Given the description of an element on the screen output the (x, y) to click on. 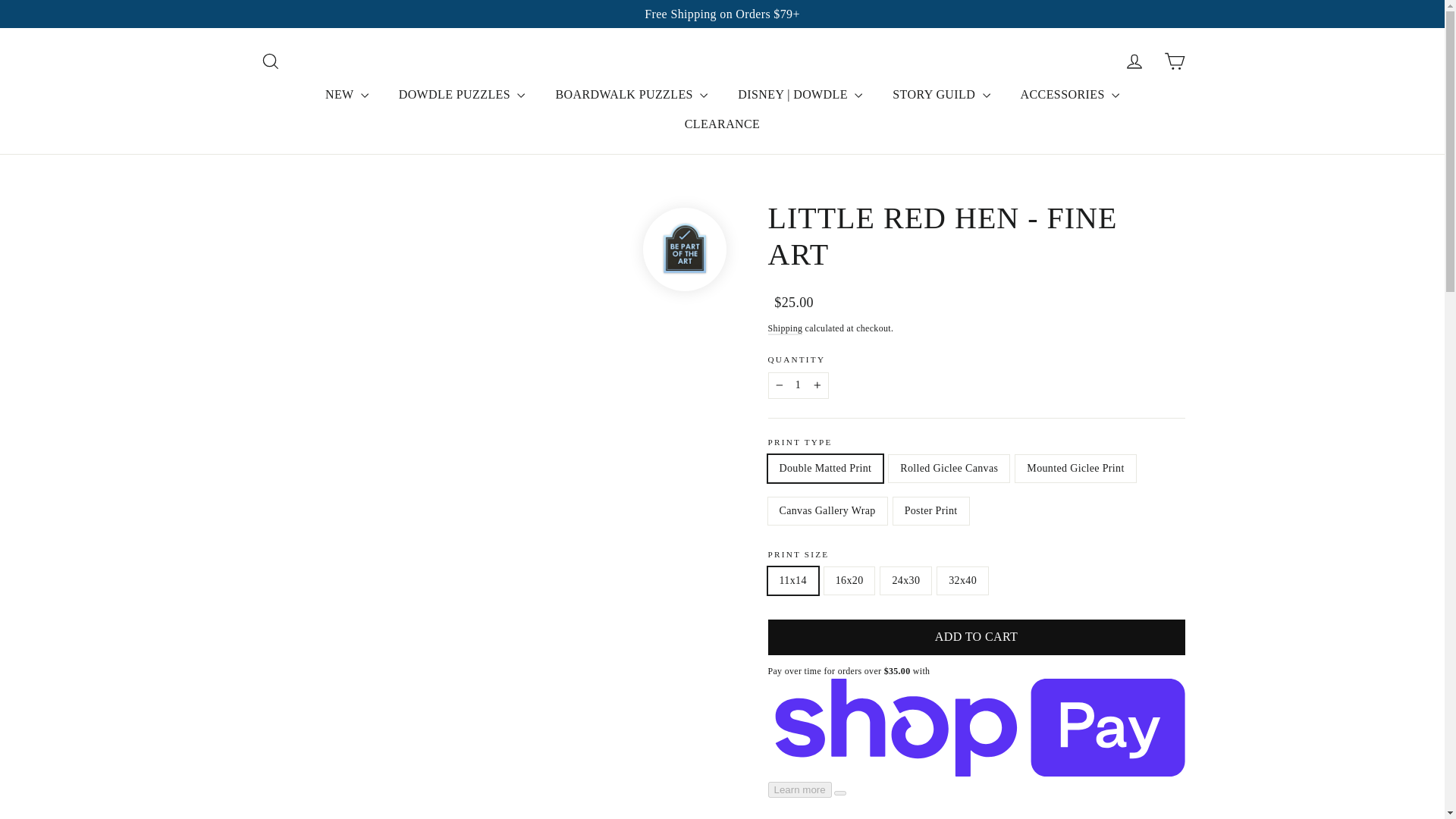
1 (797, 385)
ACCOUNT (1134, 61)
ICON-CART (1174, 61)
ICON-SEARCH (270, 61)
